Given the description of an element on the screen output the (x, y) to click on. 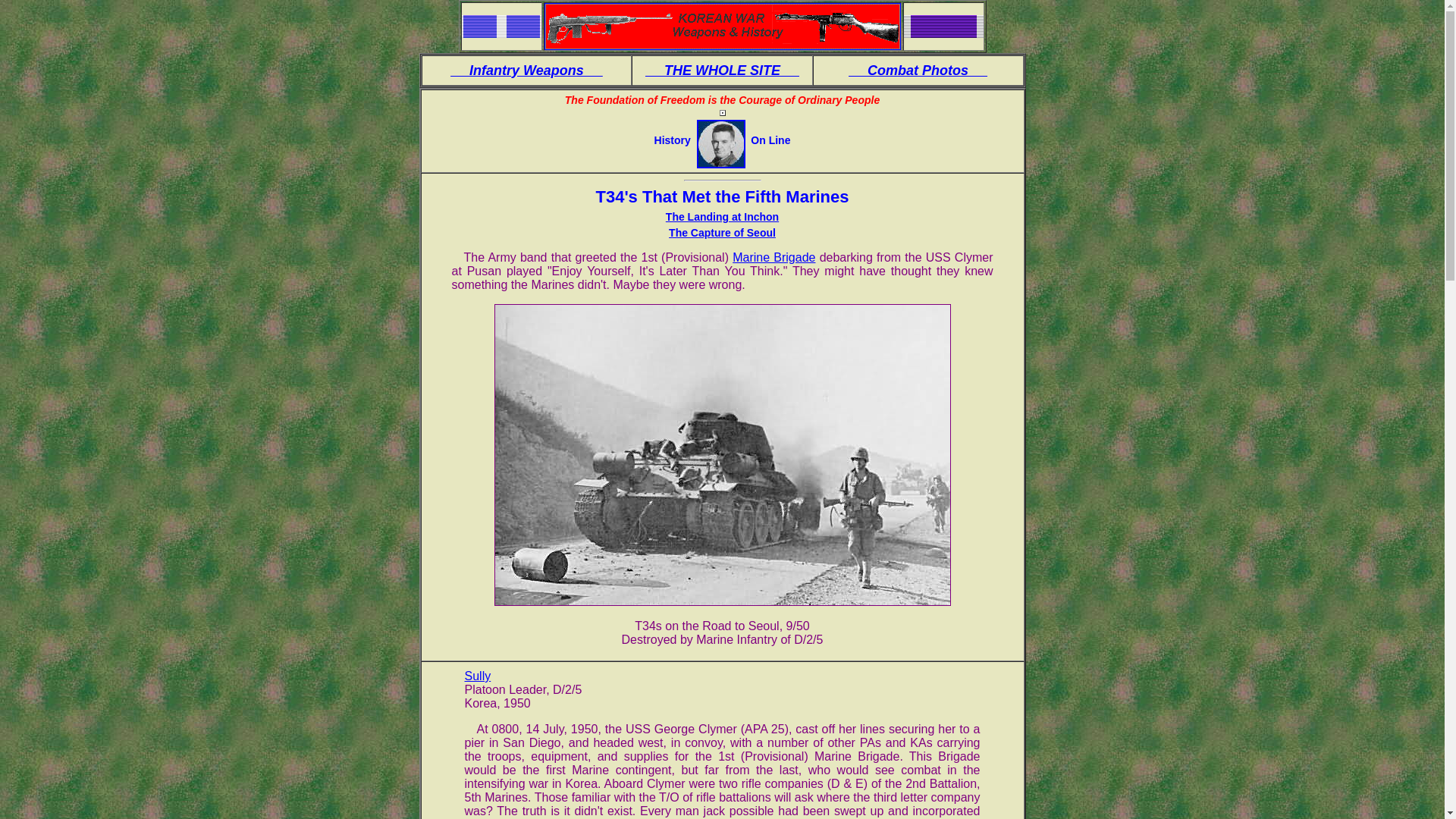
The Capture of Seoul (722, 232)
The Landing at Inchon (721, 216)
Marine Brigade (773, 256)
     THE WHOLE SITE      (722, 69)
     Infantry Weapons      (525, 69)
     Combat Photos      (917, 69)
Sully (477, 675)
